Given the description of an element on the screen output the (x, y) to click on. 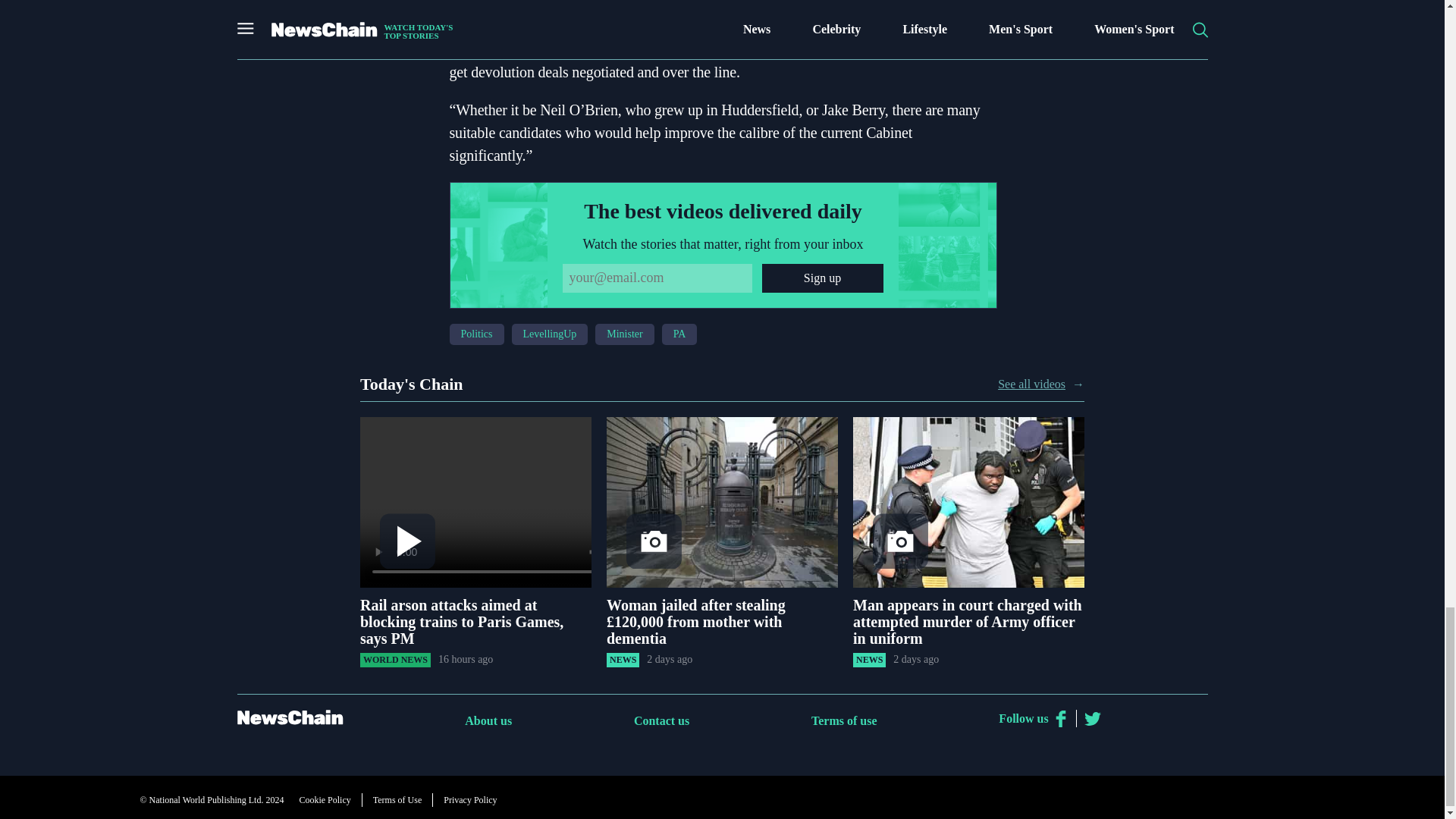
PA (456, 26)
WORLD NEWS (394, 659)
See all videos (1031, 384)
About us (488, 720)
Sign up (822, 277)
PA (679, 333)
Contact us (660, 720)
Politics (475, 333)
LevellingUp (550, 333)
Sign up (822, 277)
Terms of use (843, 720)
